Given the description of an element on the screen output the (x, y) to click on. 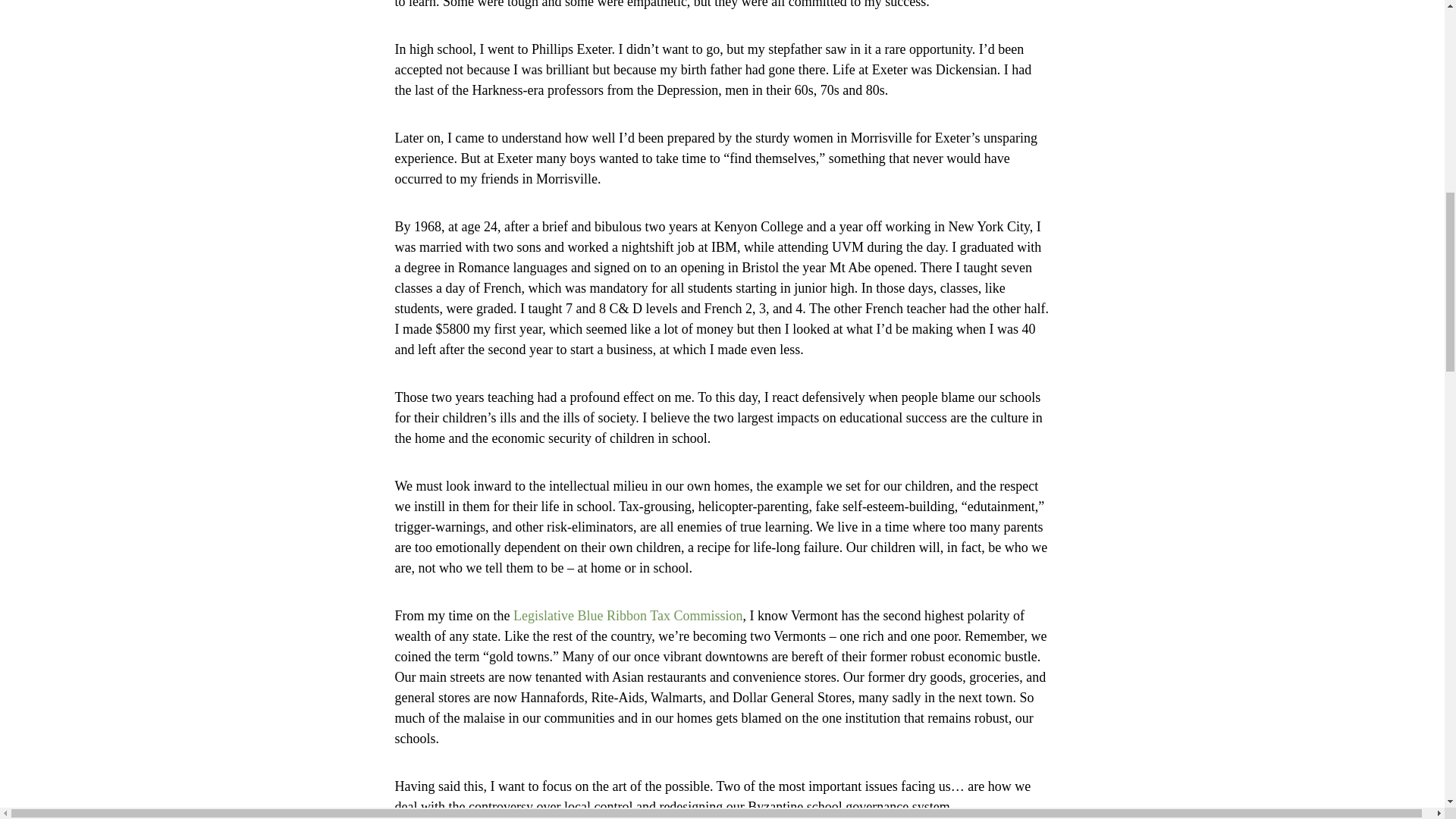
Legislative Blue Ribbon Tax Commission (627, 615)
